Given the description of an element on the screen output the (x, y) to click on. 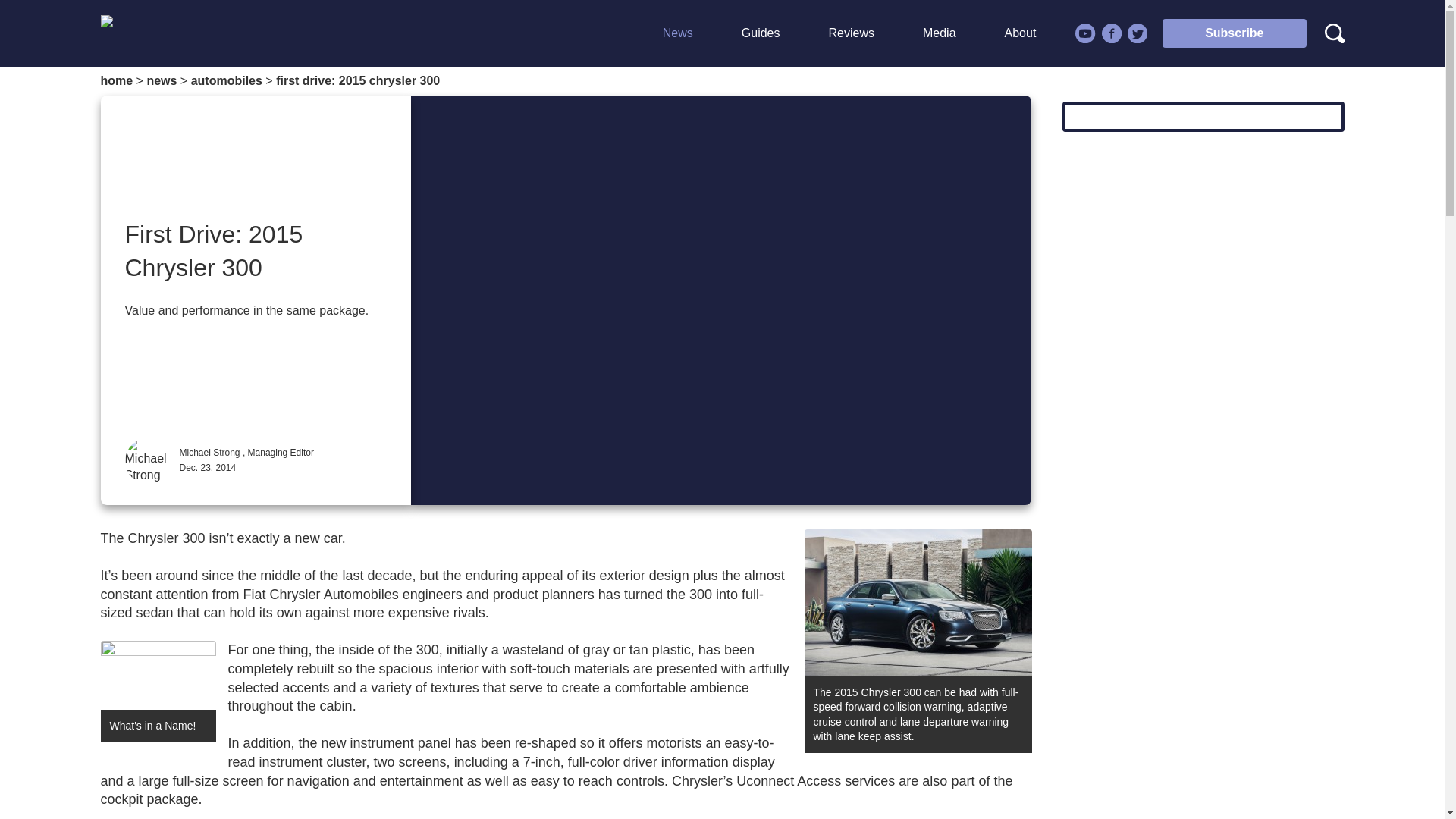
Subscribe 10 (157, 675)
Subscribe (1233, 32)
Take Action Now! (620, 15)
SUBSCRIBE (1178, 166)
2015 Chrysler 300C Platinum (916, 602)
